Given the description of an element on the screen output the (x, y) to click on. 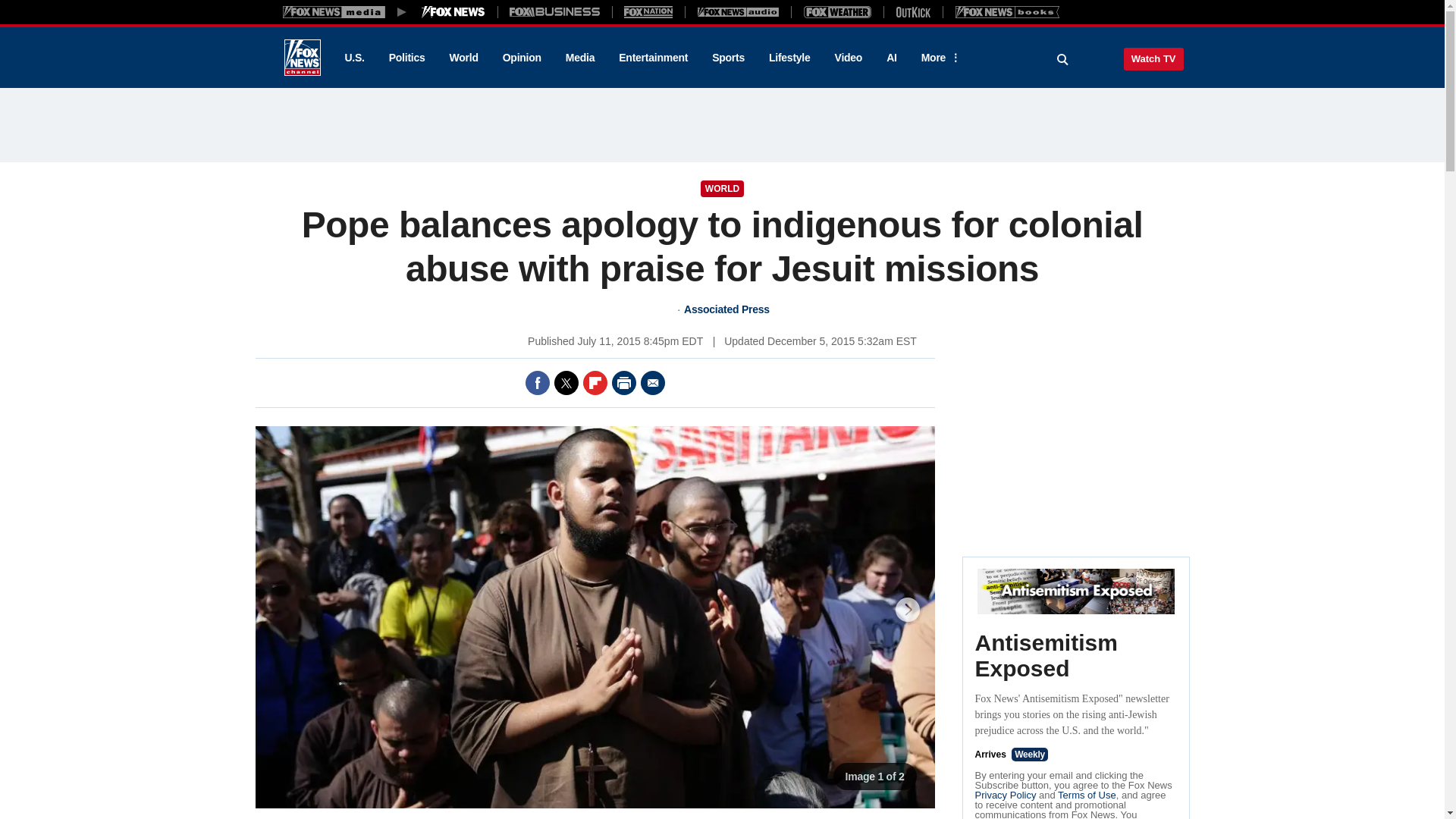
Fox News (301, 57)
Lifestyle (789, 57)
More (938, 57)
AI (891, 57)
Fox News Media (453, 11)
Fox Business (554, 11)
Sports (728, 57)
U.S. (353, 57)
Video (848, 57)
Books (1007, 11)
Watch TV (1153, 58)
Outkick (912, 11)
Politics (407, 57)
Fox News Audio (737, 11)
Opinion (521, 57)
